Given the description of an element on the screen output the (x, y) to click on. 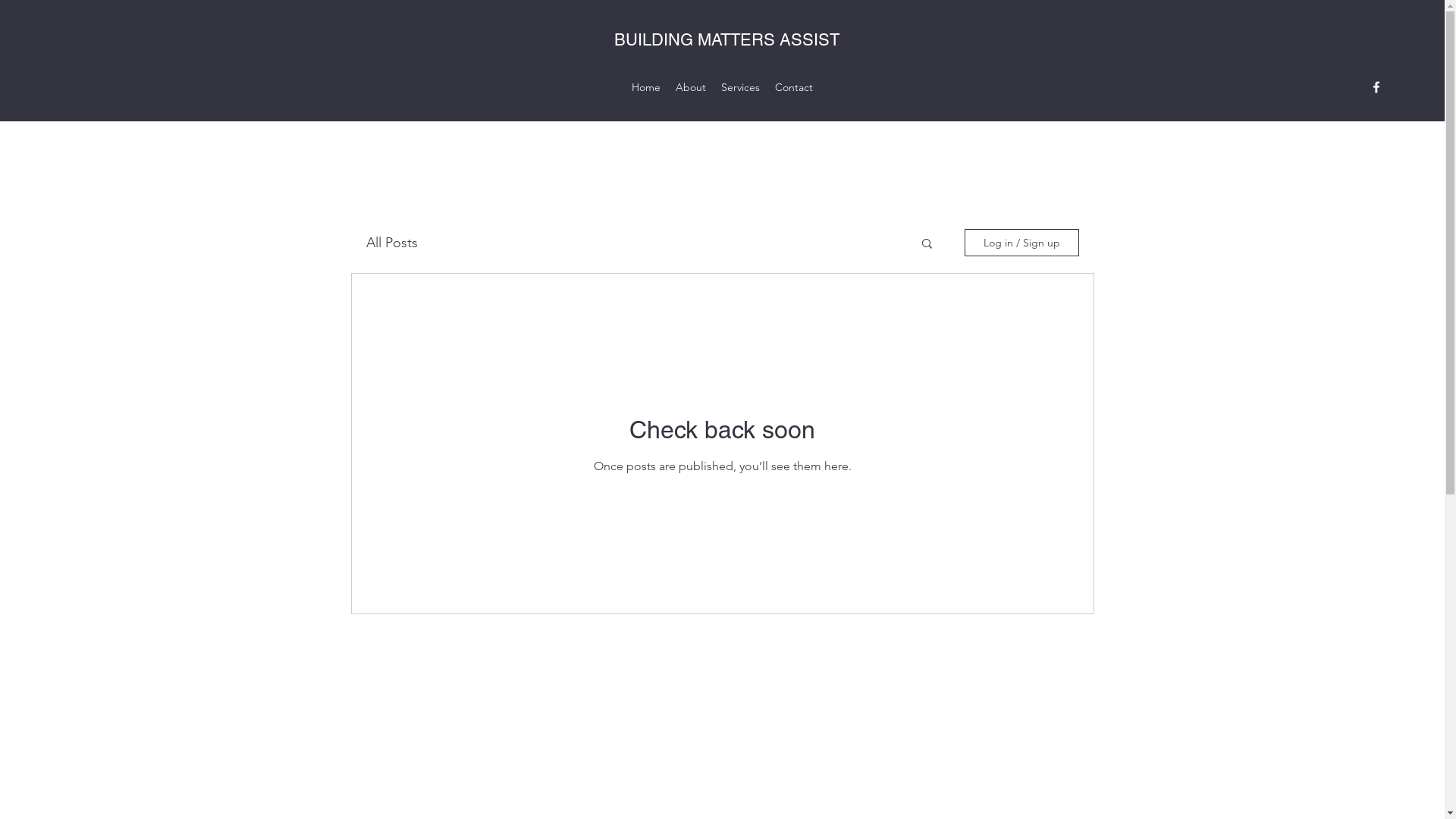
About Element type: text (690, 86)
BUILDING MATTERS ASSIST Element type: text (726, 39)
Log in / Sign up Element type: text (1021, 242)
Home Element type: text (646, 86)
Services Element type: text (740, 86)
Contact Element type: text (793, 86)
All Posts Element type: text (391, 242)
